Given the description of an element on the screen output the (x, y) to click on. 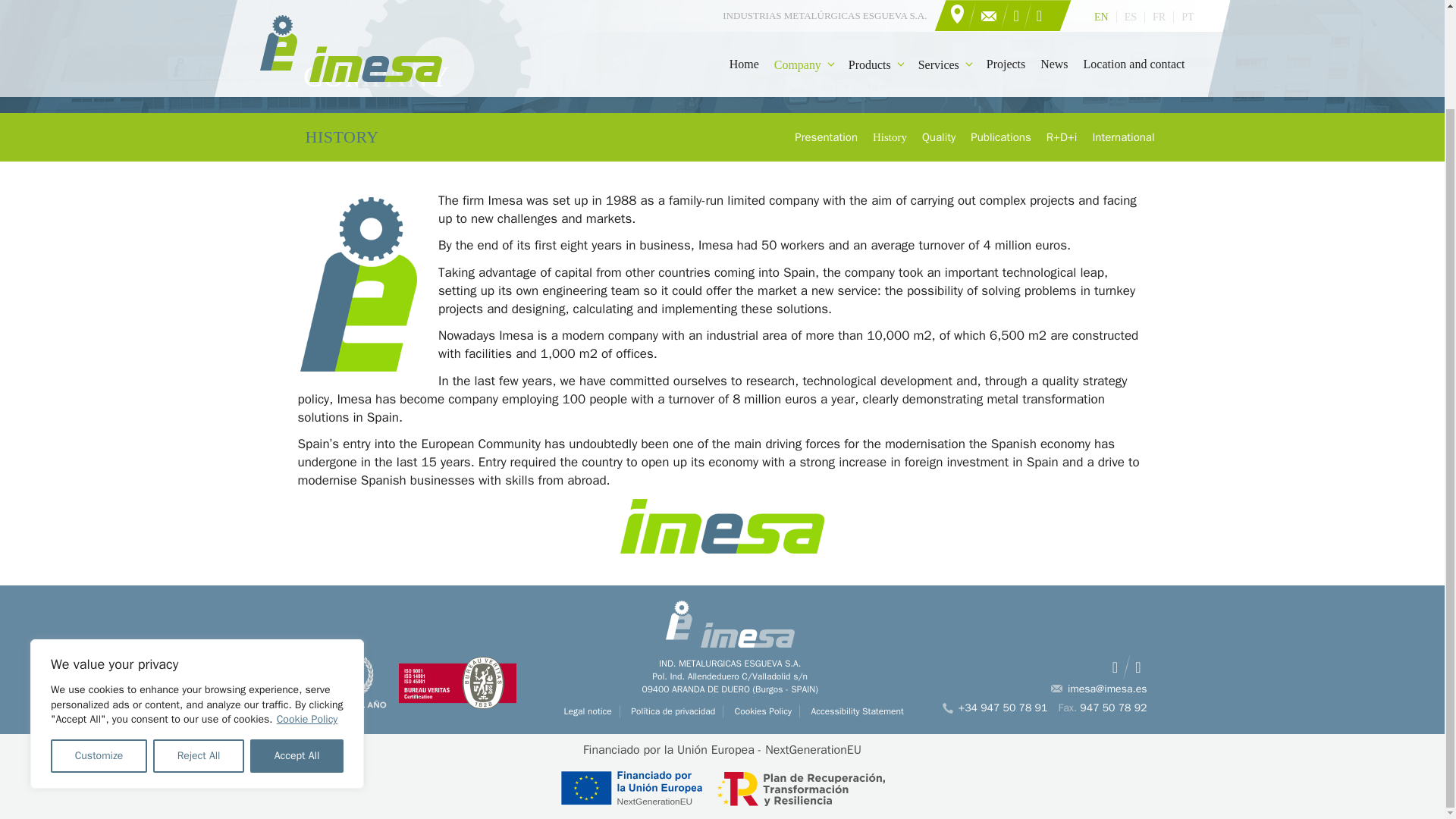
Customize (98, 641)
Reject All (198, 641)
Accept All (296, 641)
Cookie Policy (307, 604)
